Given the description of an element on the screen output the (x, y) to click on. 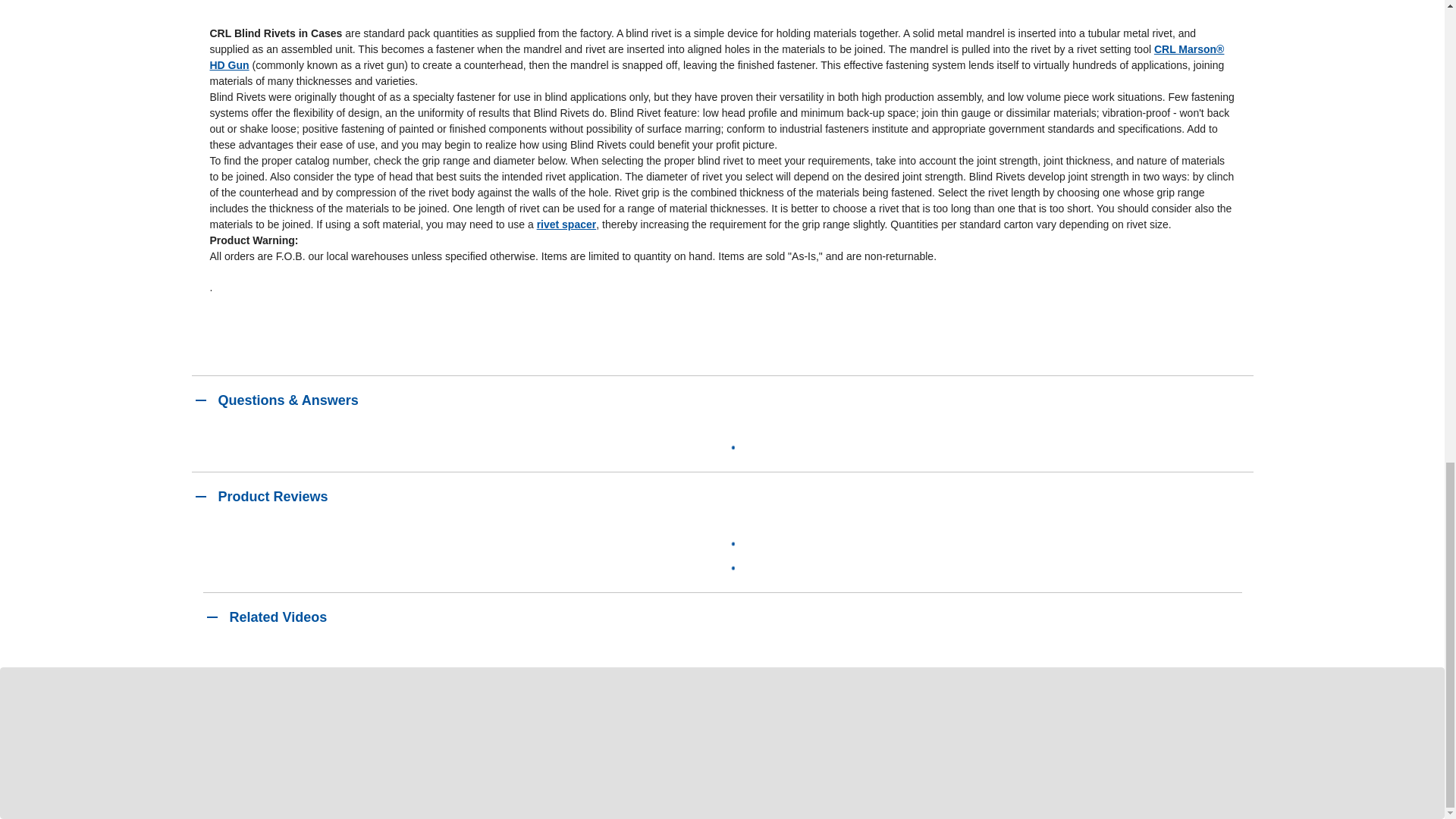
rivet spacer (566, 224)
Product Reviews (721, 495)
Related Videos (722, 616)
